Given the description of an element on the screen output the (x, y) to click on. 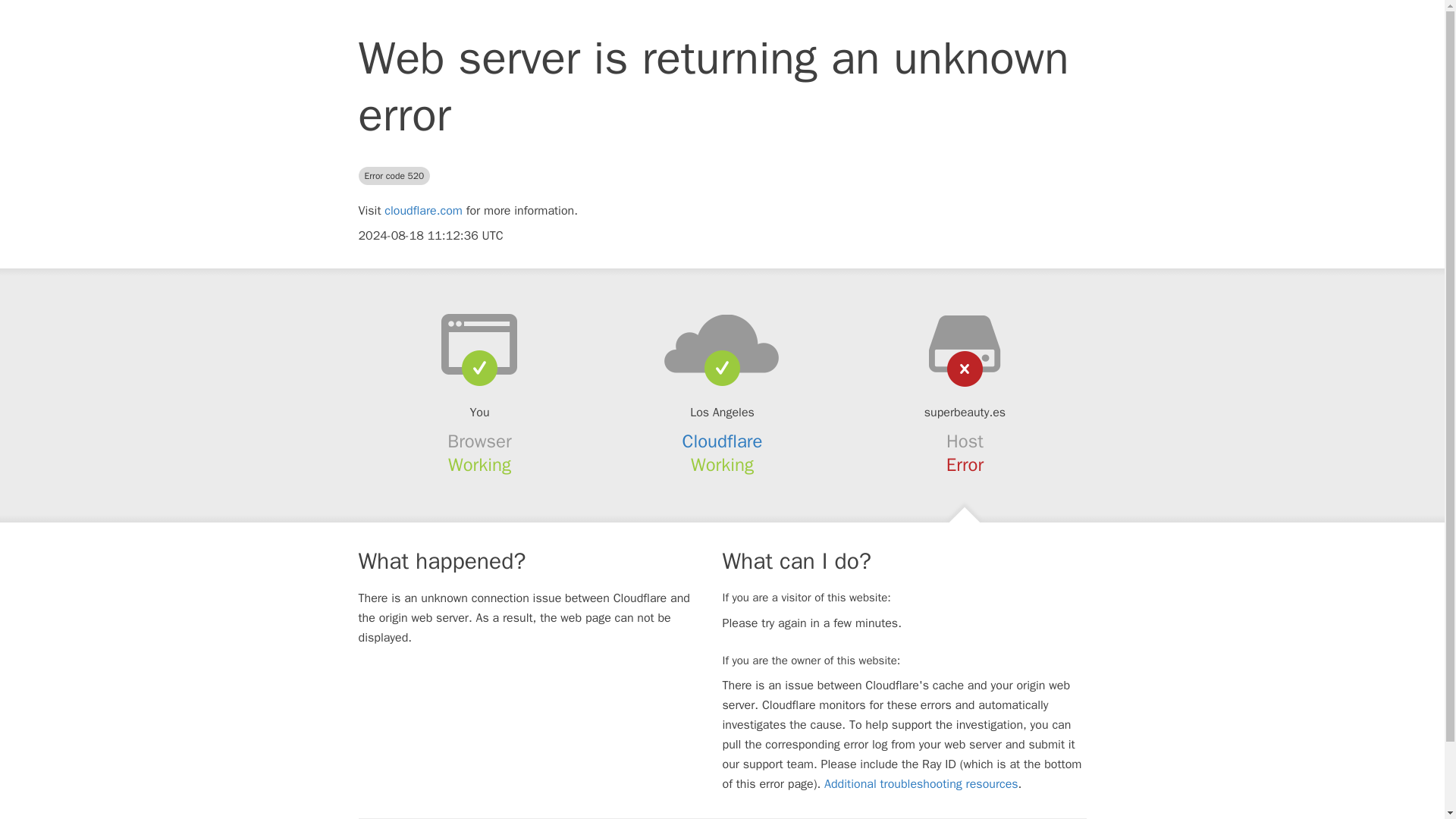
Cloudflare (722, 440)
cloudflare.com (423, 210)
Additional troubleshooting resources (920, 783)
